Given the description of an element on the screen output the (x, y) to click on. 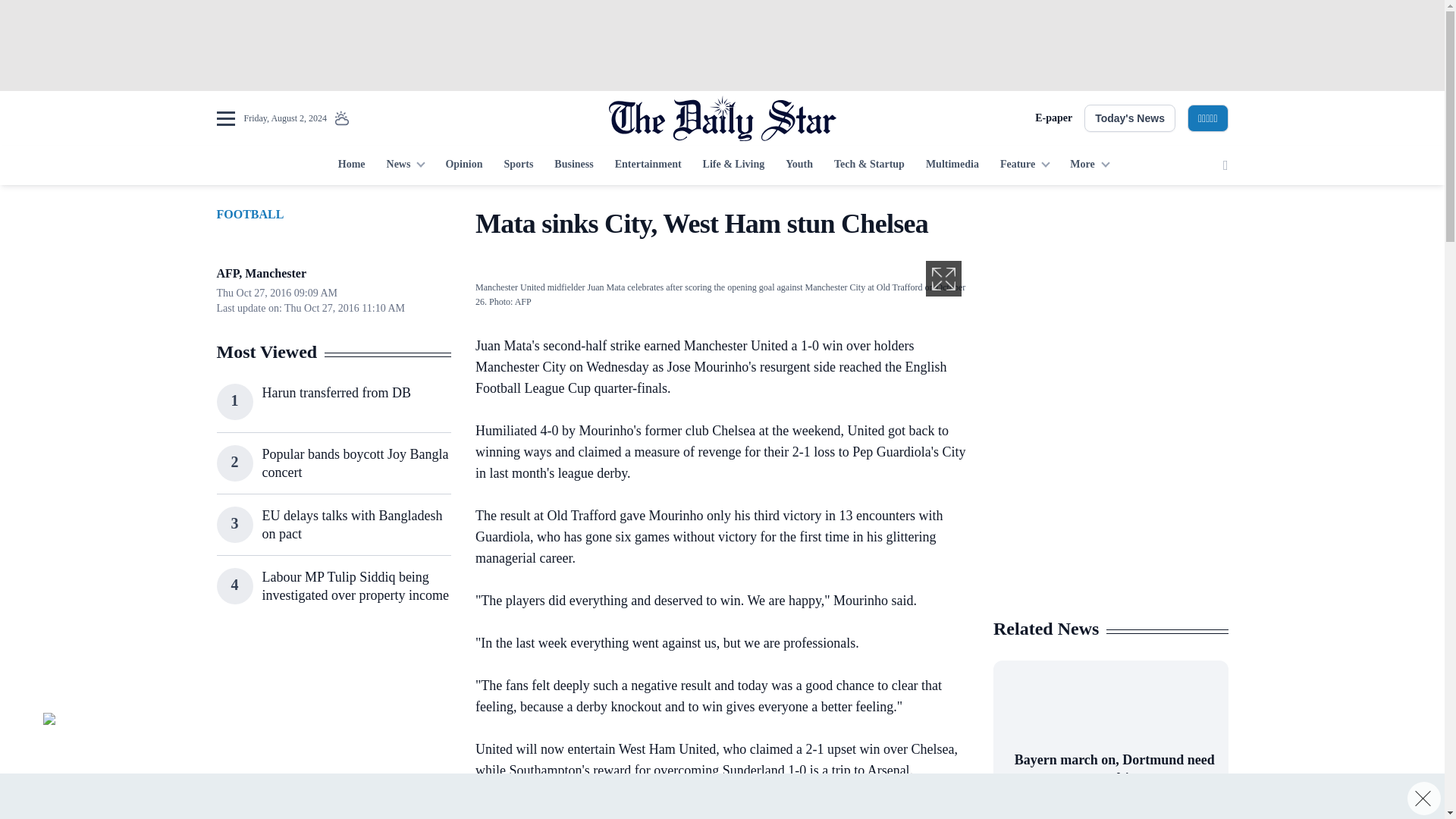
E-paper (1053, 117)
Feature (1024, 165)
3rd party ad content (1110, 506)
Today's News (1129, 117)
3rd party ad content (332, 727)
3rd party ad content (1110, 302)
Business (573, 165)
3rd party ad content (721, 45)
Multimedia (952, 165)
